Given the description of an element on the screen output the (x, y) to click on. 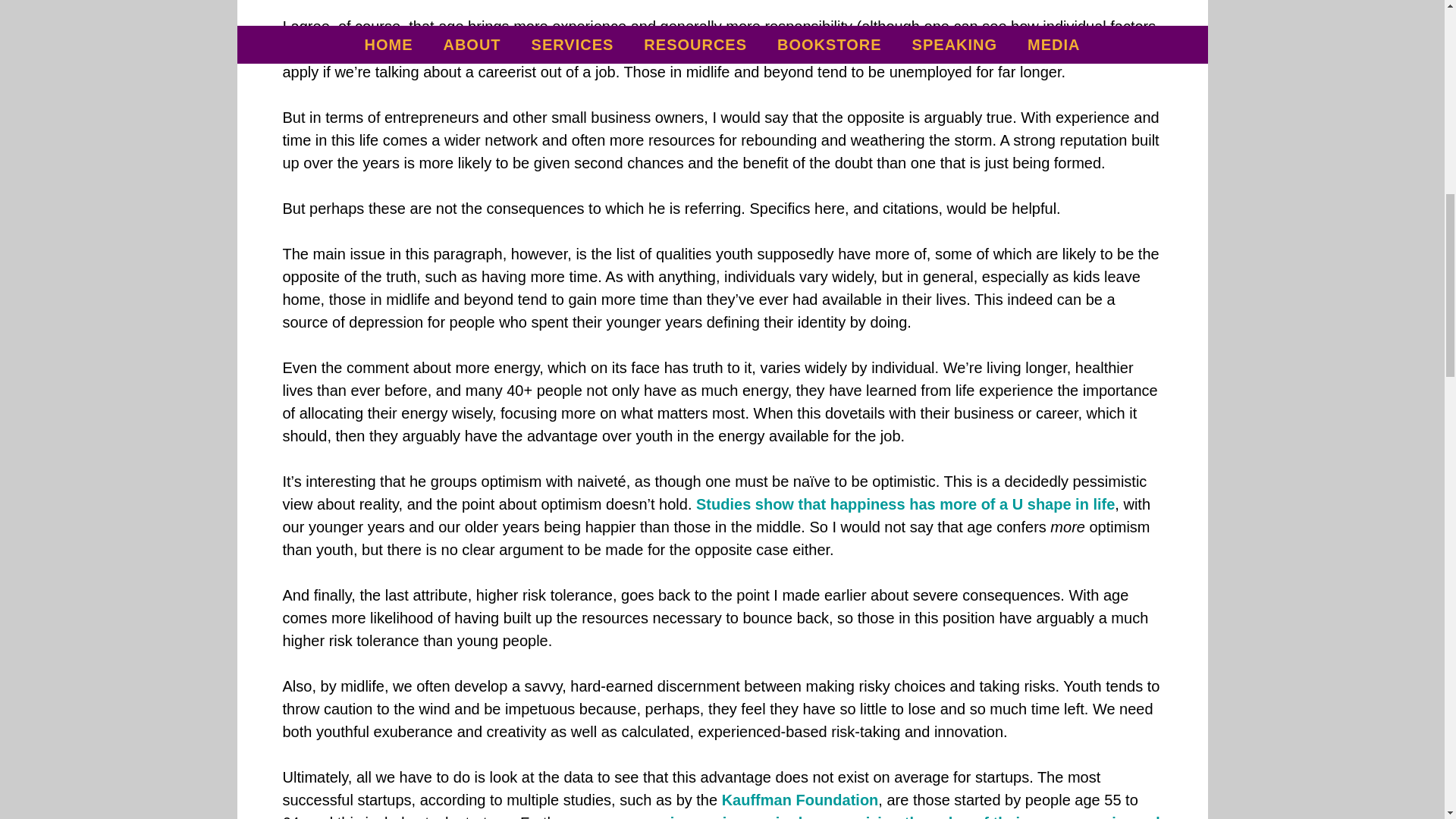
Studies show that happiness has more of a U shape in life (905, 504)
Kauffman Foundation (800, 799)
